Given the description of an element on the screen output the (x, y) to click on. 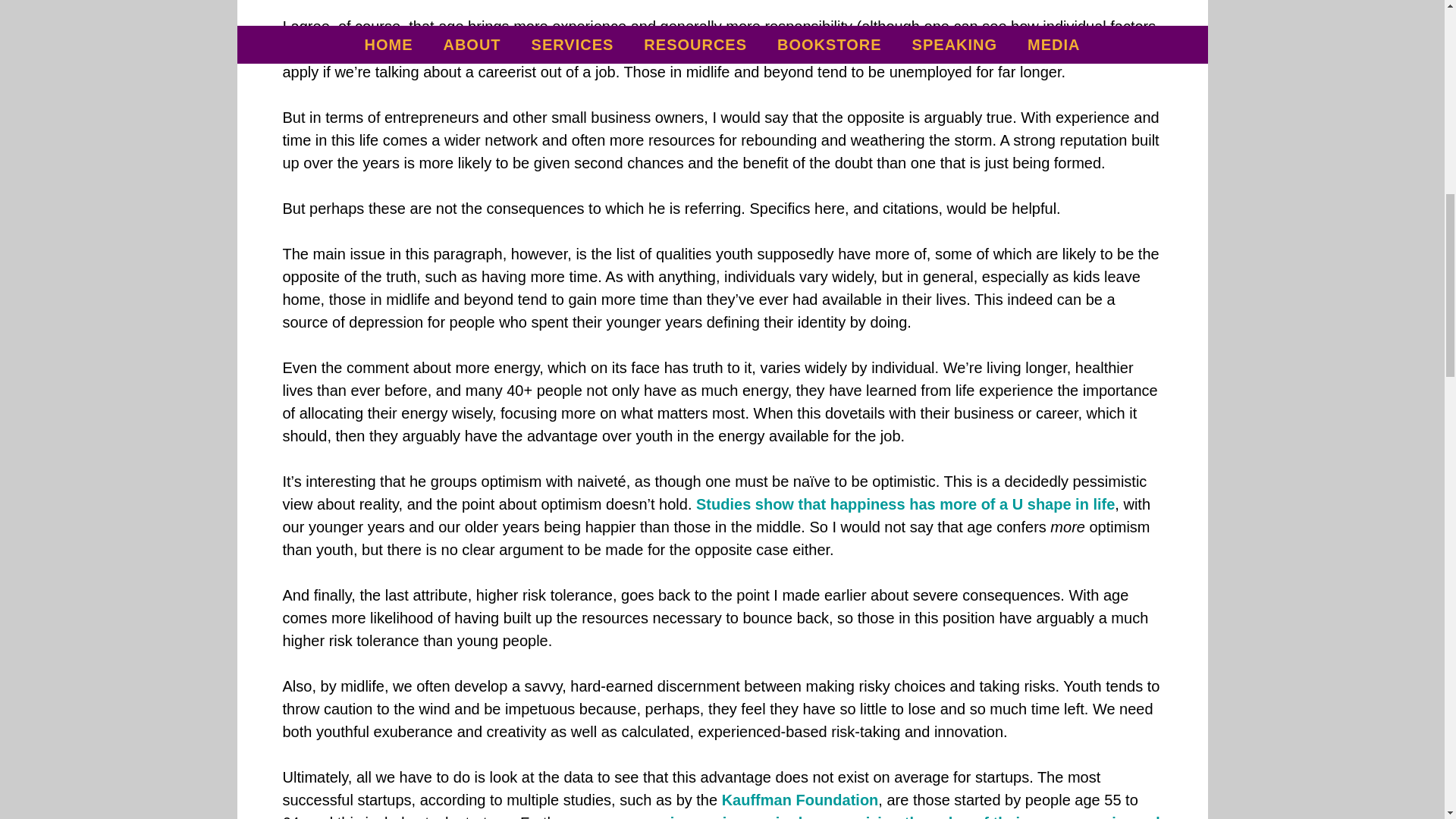
Studies show that happiness has more of a U shape in life (905, 504)
Kauffman Foundation (800, 799)
